Given the description of an element on the screen output the (x, y) to click on. 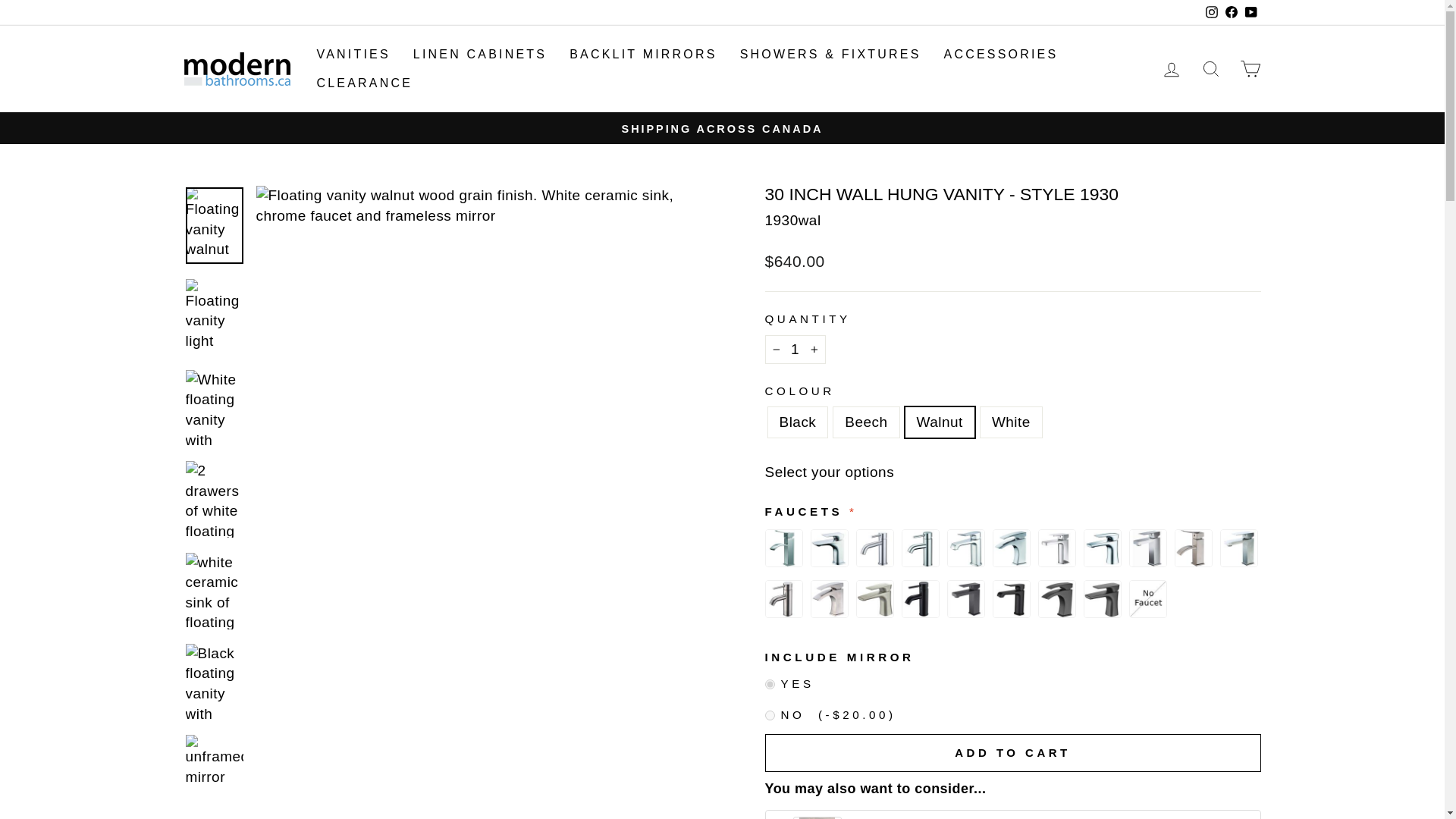
Faucet 1586 - Brushed Nickel (828, 598)
Faucet - Chrome (1102, 547)
ACCESSORIES (1001, 54)
Faucet - Chrome (1147, 547)
VANITIES (352, 54)
Faucet 1433 - Brushed Nickel (783, 598)
BACKLIT MIRRORS (642, 54)
Brushed Nickel Faucet (875, 598)
Faucet - Chrome (1057, 547)
Faucet - Chrome (965, 547)
Faucet - Chrome (1010, 547)
Faucet - Chrome (920, 547)
Faucet - Chrome (783, 547)
Faucet 1258 - Brushed Nickel (1192, 547)
